Given the description of an element on the screen output the (x, y) to click on. 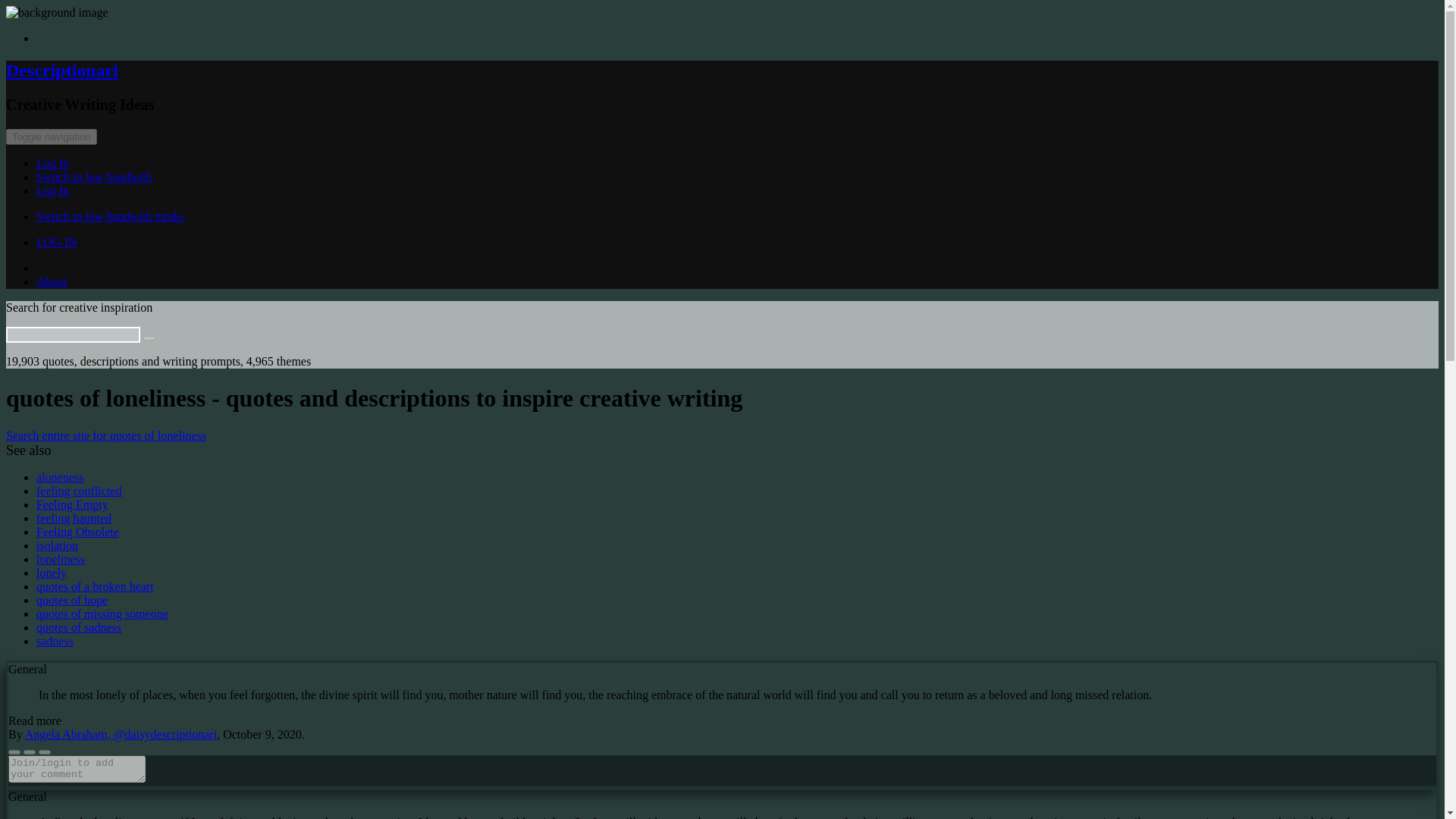
Log in (52, 163)
Toggle navigation (51, 136)
quotes of missing someone (102, 613)
Switch to low bandwith mode. (110, 215)
Read more (34, 720)
Describe 'isolation' (57, 545)
LOG IN (56, 241)
Describe 'loneliness' (60, 558)
feeling conflicted (78, 490)
Describe 'Feeling Empty' (71, 504)
